Given the description of an element on the screen output the (x, y) to click on. 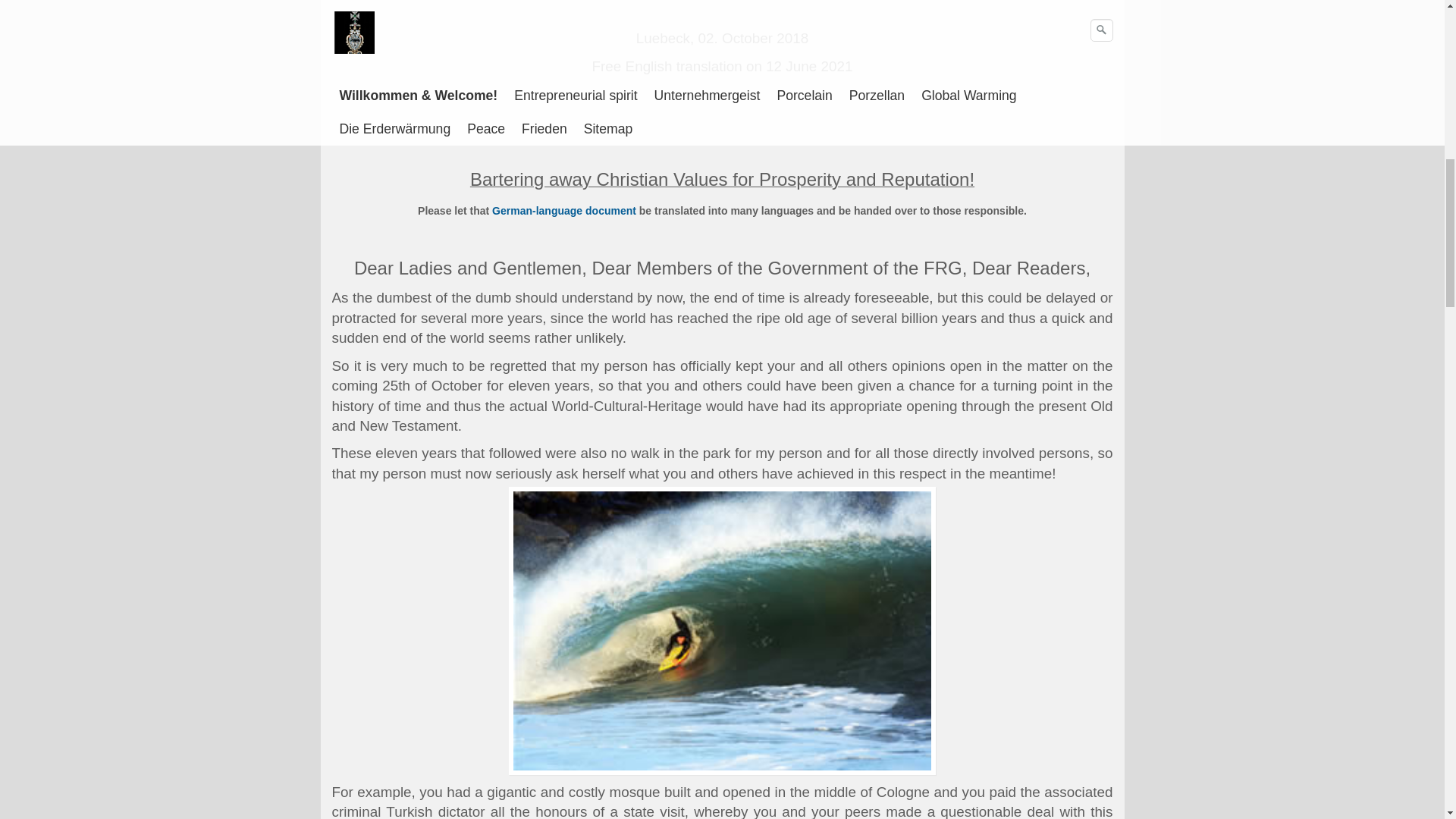
German-language document (564, 210)
